Given the description of an element on the screen output the (x, y) to click on. 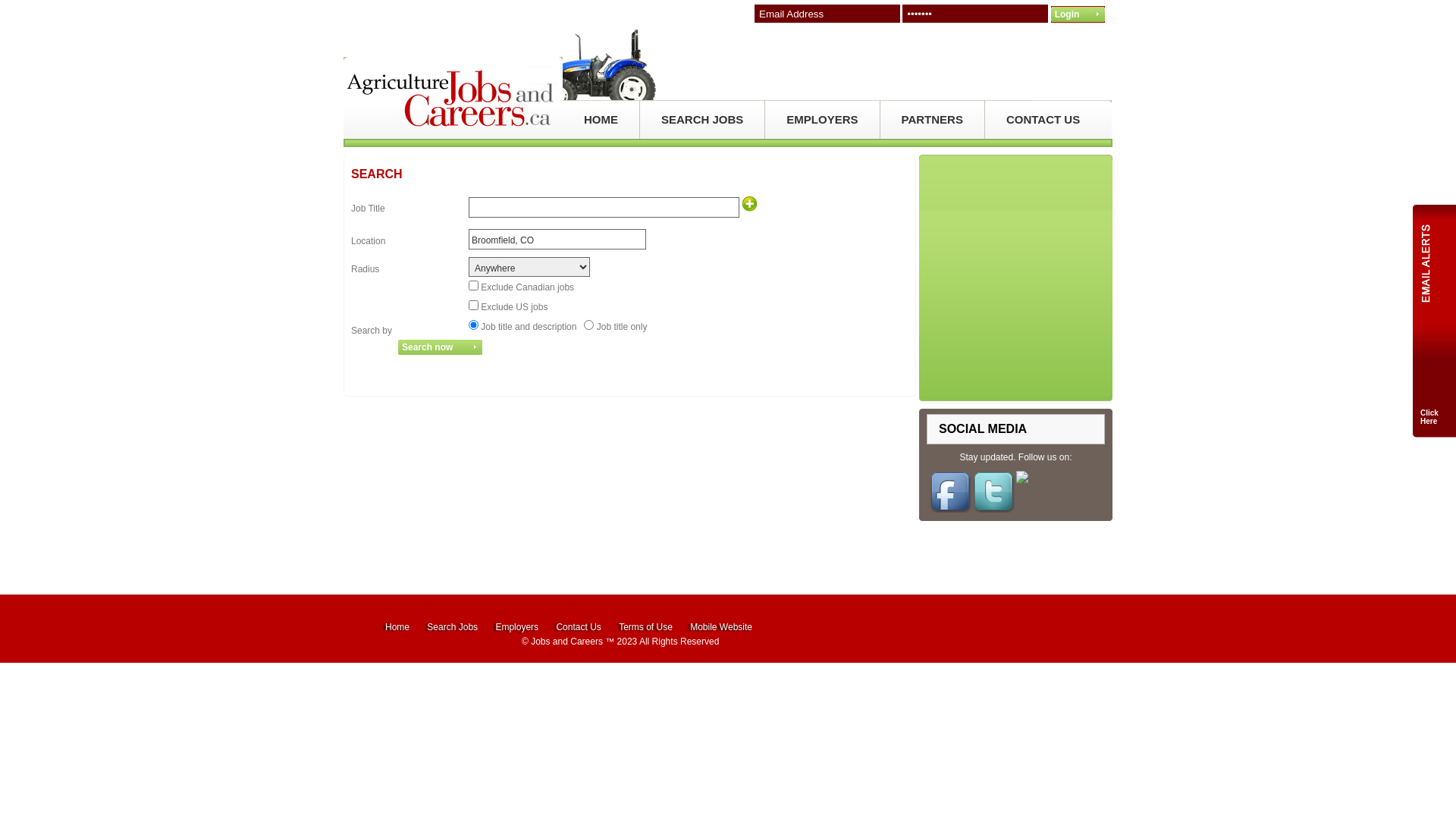
Mobile Website Element type: text (721, 626)
HOME Element type: text (600, 119)
Search Jobs Element type: text (451, 626)
Home Element type: text (397, 626)
Login Element type: text (1077, 14)
SEARCH JOBS Element type: text (702, 119)
Search now Element type: text (440, 346)
EMPLOYERS Element type: text (821, 119)
PARTNERS Element type: text (932, 119)
Employers Element type: text (516, 626)
Contact Us Element type: text (577, 626)
CONTACT US Element type: text (1043, 119)
Jobs and Careers Element type: text (566, 641)
Terms of Use Element type: text (645, 626)
